Given the description of an element on the screen output the (x, y) to click on. 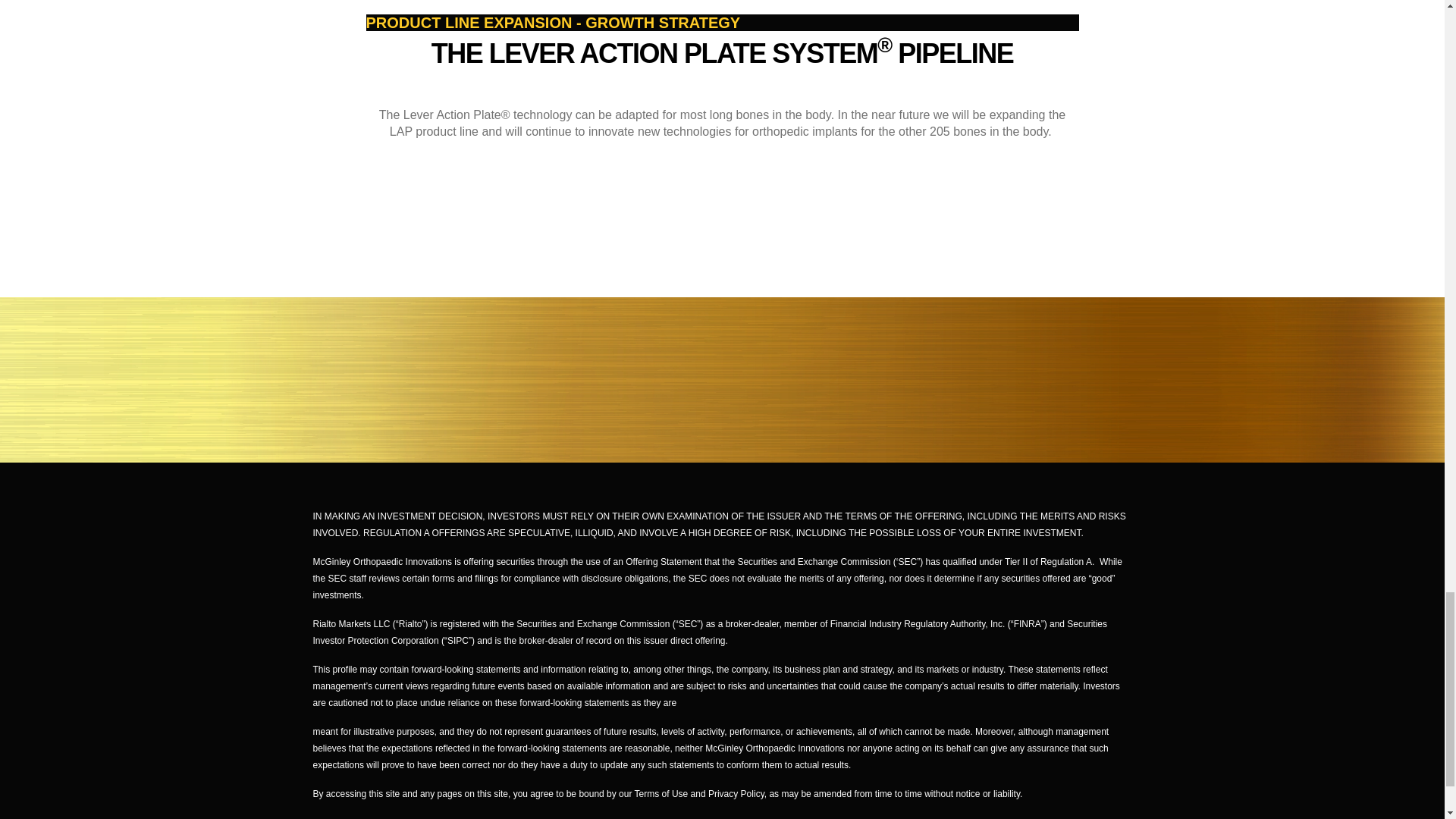
Offering Statement (663, 561)
Privacy Policy (735, 793)
Terms of Use (659, 793)
